Given the description of an element on the screen output the (x, y) to click on. 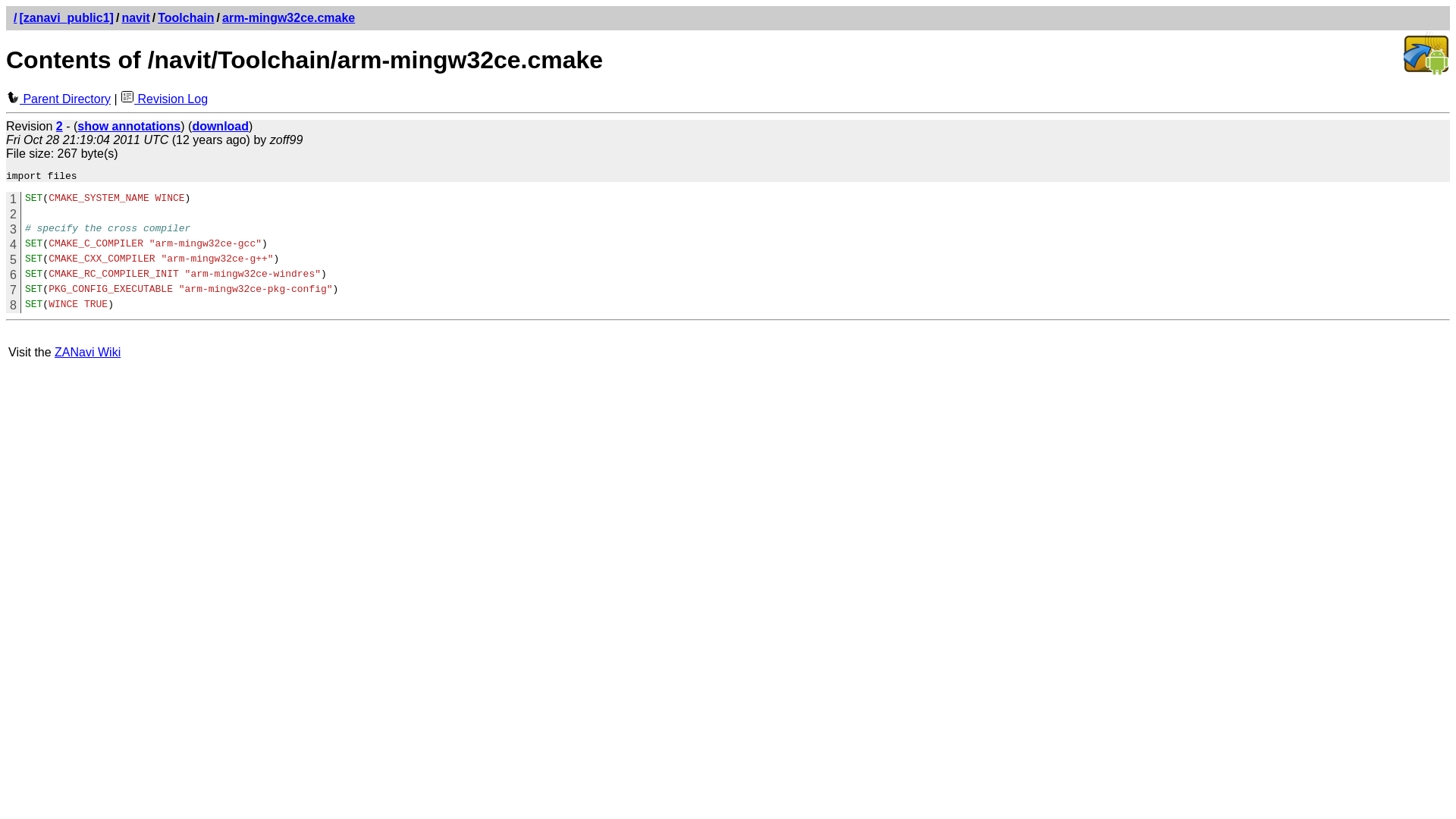
ZANavi Wiki Element type: text (87, 351)
/ Element type: text (14, 17)
download Element type: text (219, 125)
arm-mingw32ce.cmake Element type: text (288, 17)
Revision Log Element type: text (163, 98)
Toolchain Element type: text (185, 17)
Parent Directory Element type: text (58, 98)
show annotations Element type: text (128, 125)
2 Element type: text (59, 125)
ZANavi Wiki Element type: hover (1426, 71)
[zanavi_public1] Element type: text (65, 17)
navit Element type: text (135, 17)
